Given the description of an element on the screen output the (x, y) to click on. 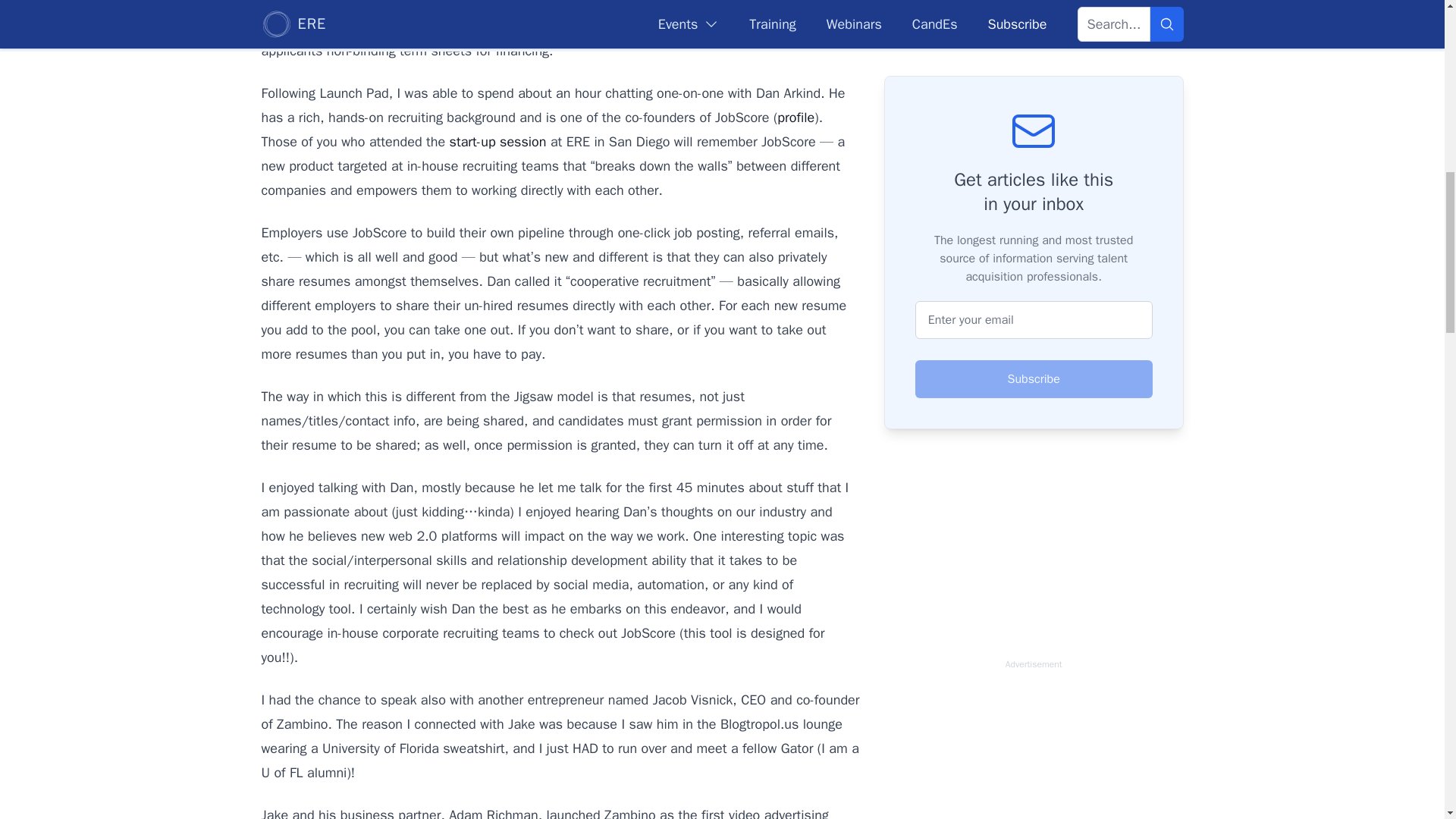
profile (795, 117)
start-up session (498, 141)
3rd party ad content (1033, 747)
